Given the description of an element on the screen output the (x, y) to click on. 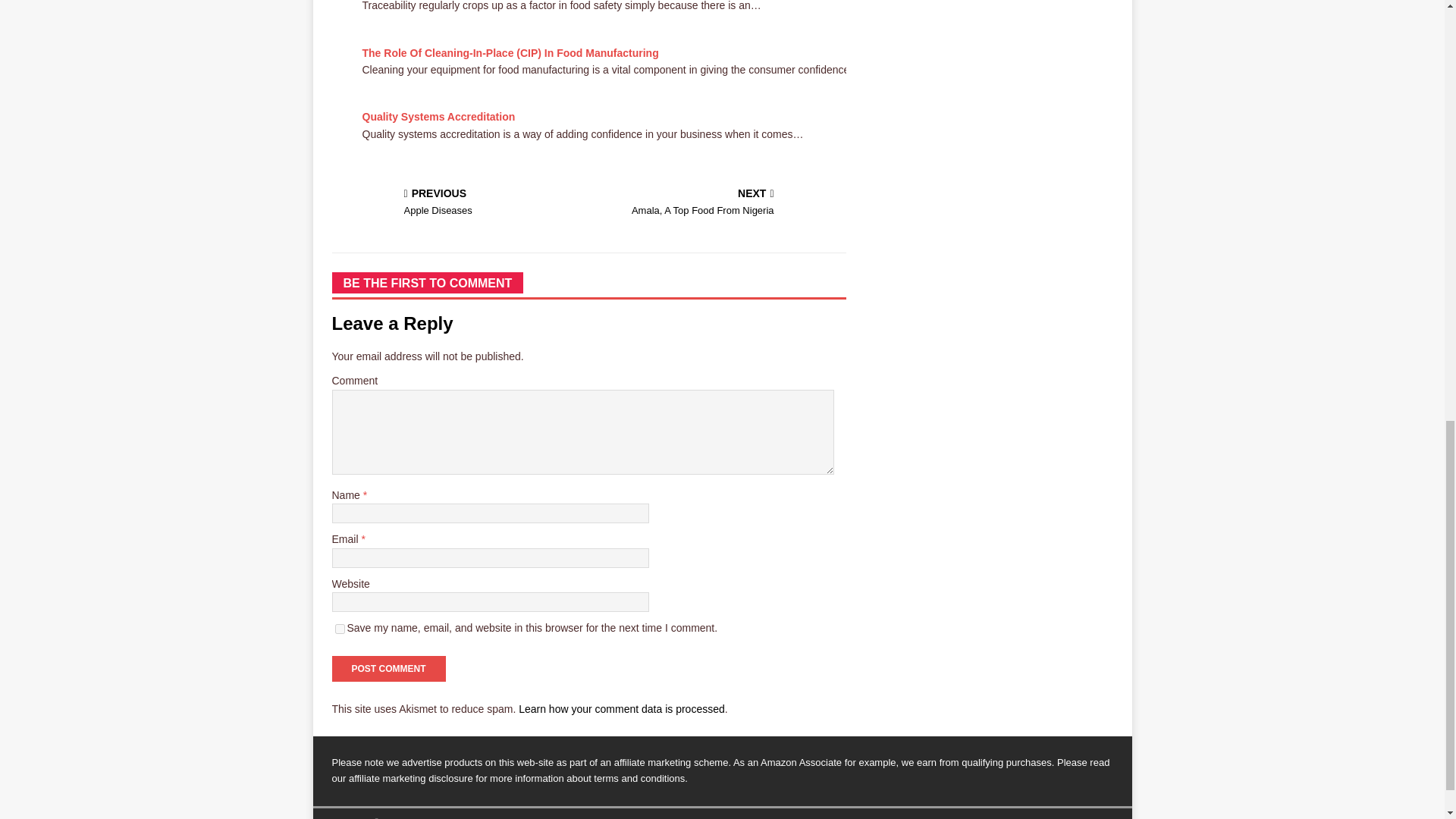
Post Comment (388, 668)
yes (339, 628)
